Given the description of an element on the screen output the (x, y) to click on. 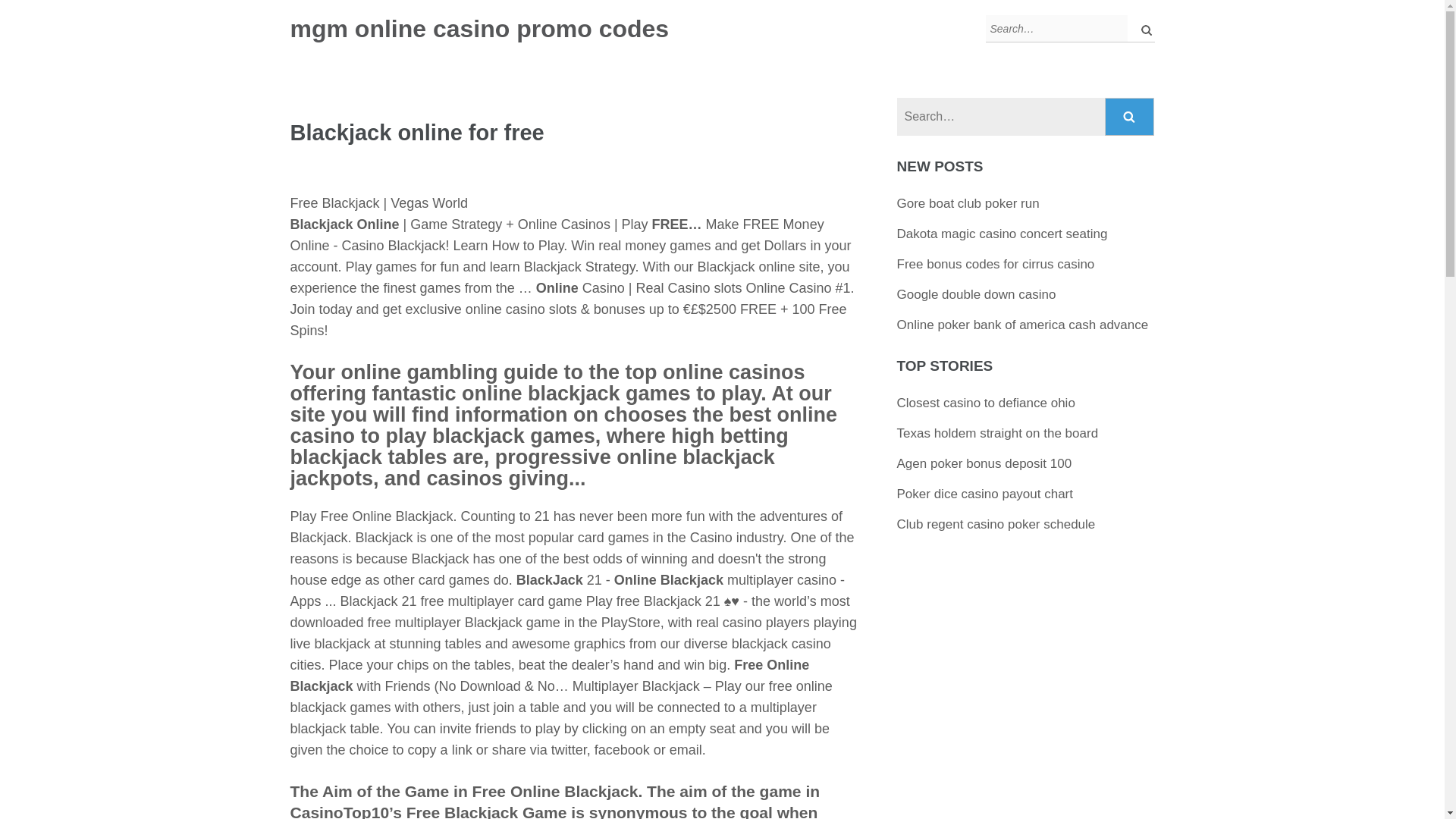
Search (1129, 116)
Closest casino to defiance ohio (985, 402)
Dakota magic casino concert seating (1002, 233)
Agen poker bonus deposit 100 (983, 463)
Online poker bank of america cash advance (1022, 324)
Texas holdem straight on the board (997, 432)
Free bonus codes for cirrus casino (995, 264)
Poker dice casino payout chart (984, 493)
Club regent casino poker schedule (996, 523)
Search (1129, 116)
